Given the description of an element on the screen output the (x, y) to click on. 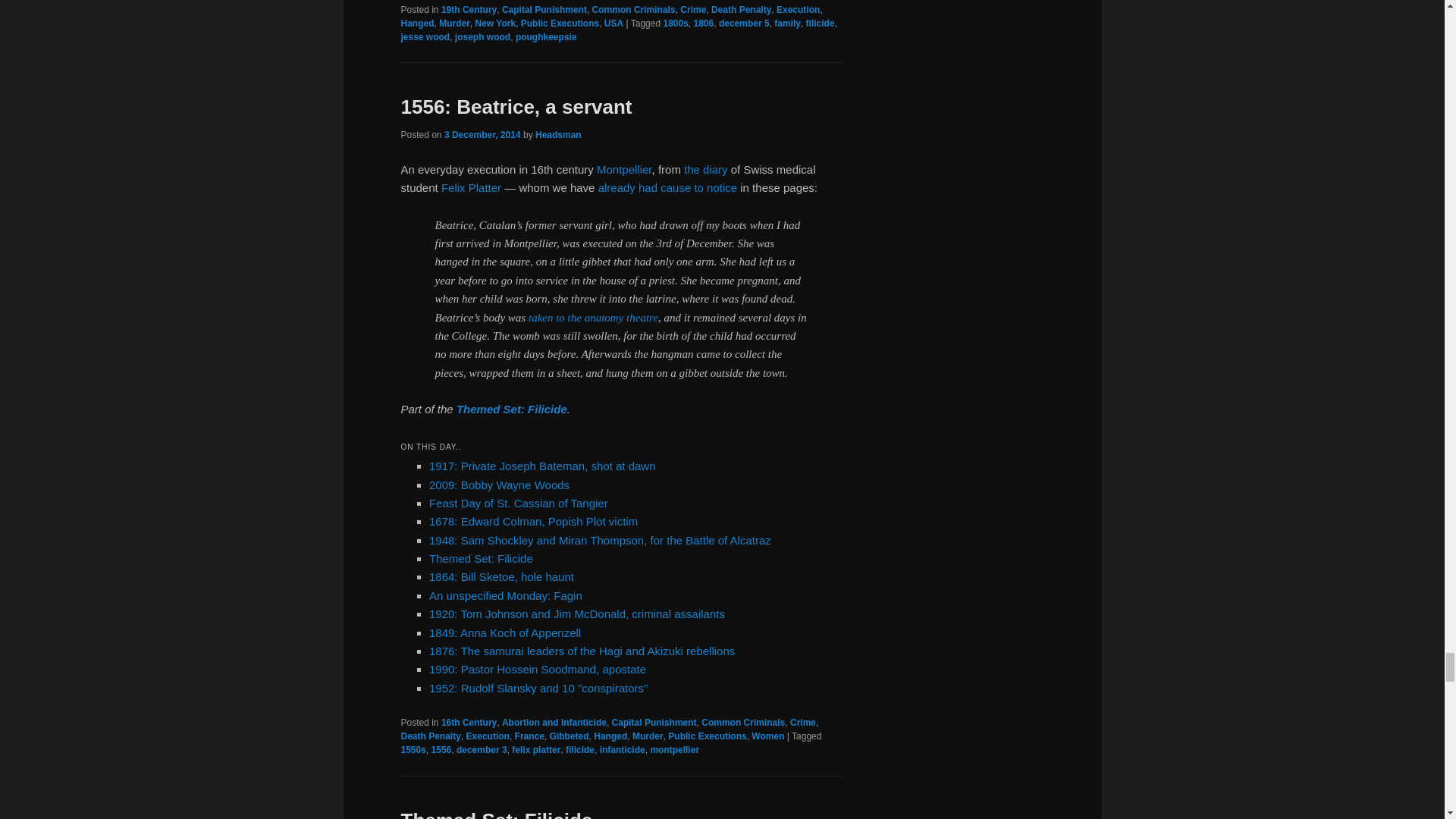
11:15 am (482, 134)
